Given the description of an element on the screen output the (x, y) to click on. 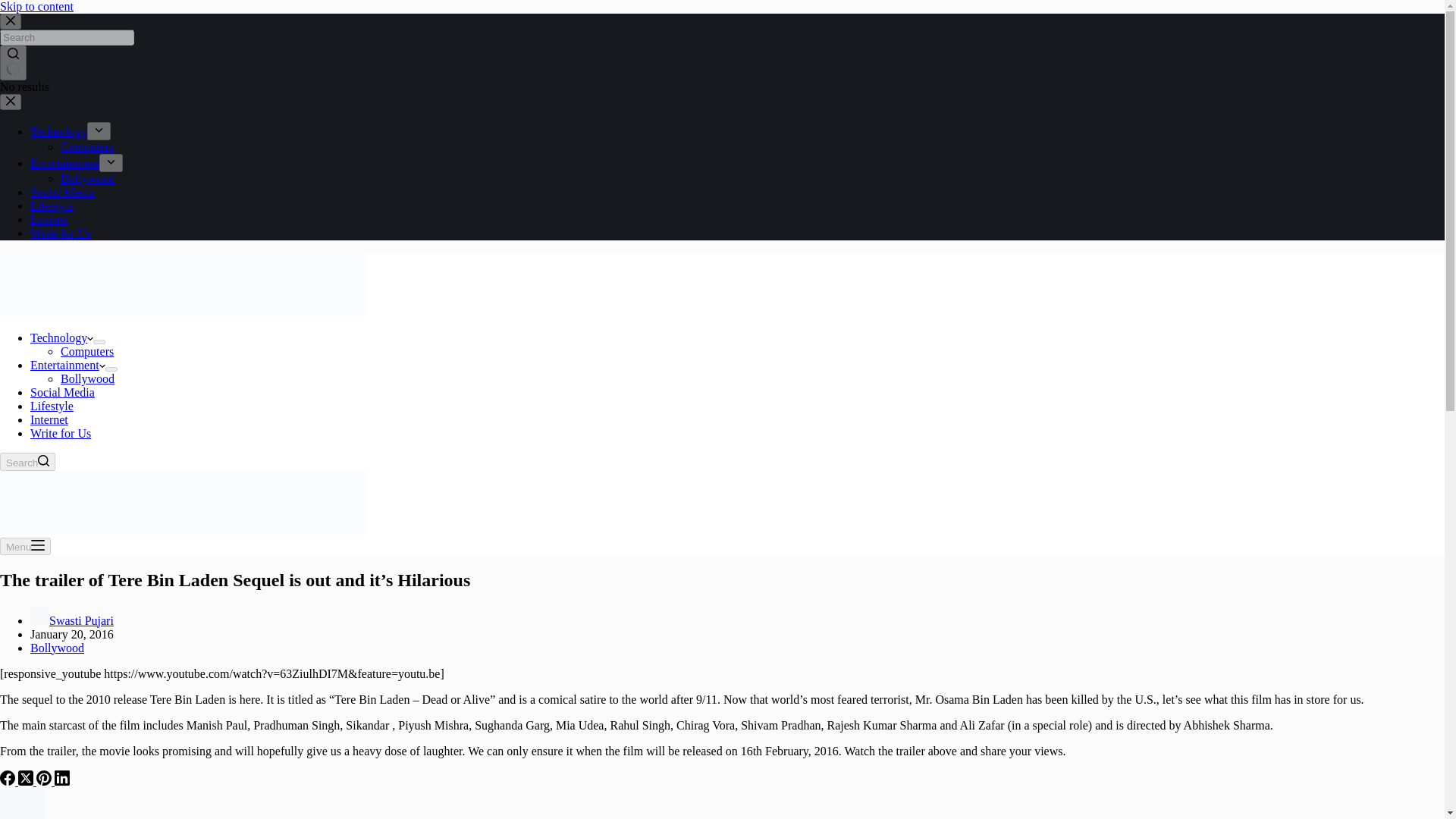
Entertainment (67, 364)
Computers (87, 350)
Entertainment (64, 163)
Social Media (62, 192)
Search for... (66, 37)
Lifestyle (52, 405)
Bollywood (57, 647)
Swasti Pujari (81, 620)
Bollywood (88, 178)
Lifestyle (52, 205)
